Given the description of an element on the screen output the (x, y) to click on. 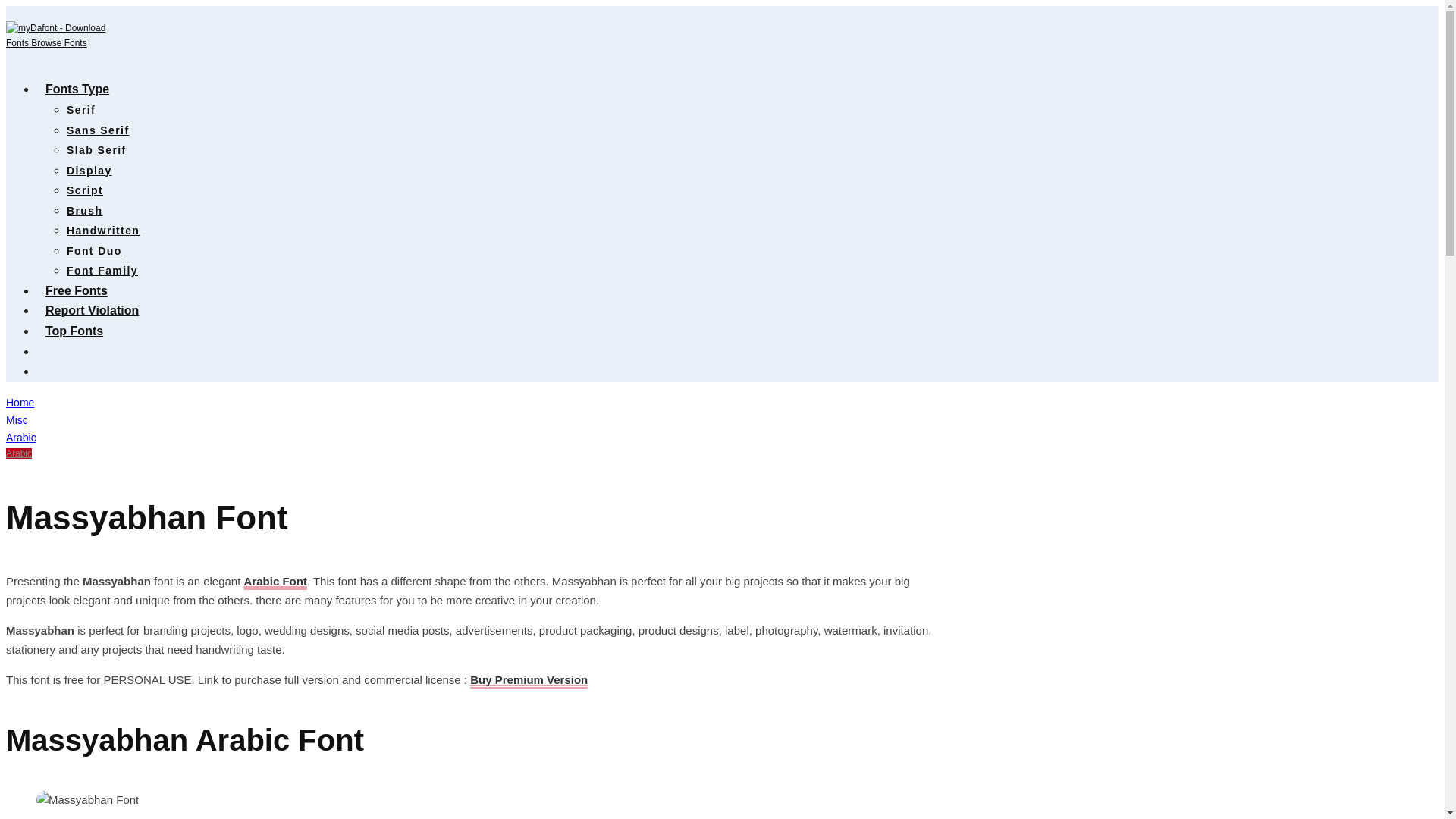
Arabic (18, 452)
Serif (81, 110)
Font Family (102, 270)
Slab Serif (96, 150)
Buy Premium Version (529, 679)
Misc (16, 419)
Sans Serif (97, 130)
Report Violation (92, 309)
Arabic Font (275, 581)
Arabic (20, 437)
Display (89, 170)
Brush (83, 210)
Home (19, 402)
Handwritten (102, 230)
Script (84, 190)
